Given the description of an element on the screen output the (x, y) to click on. 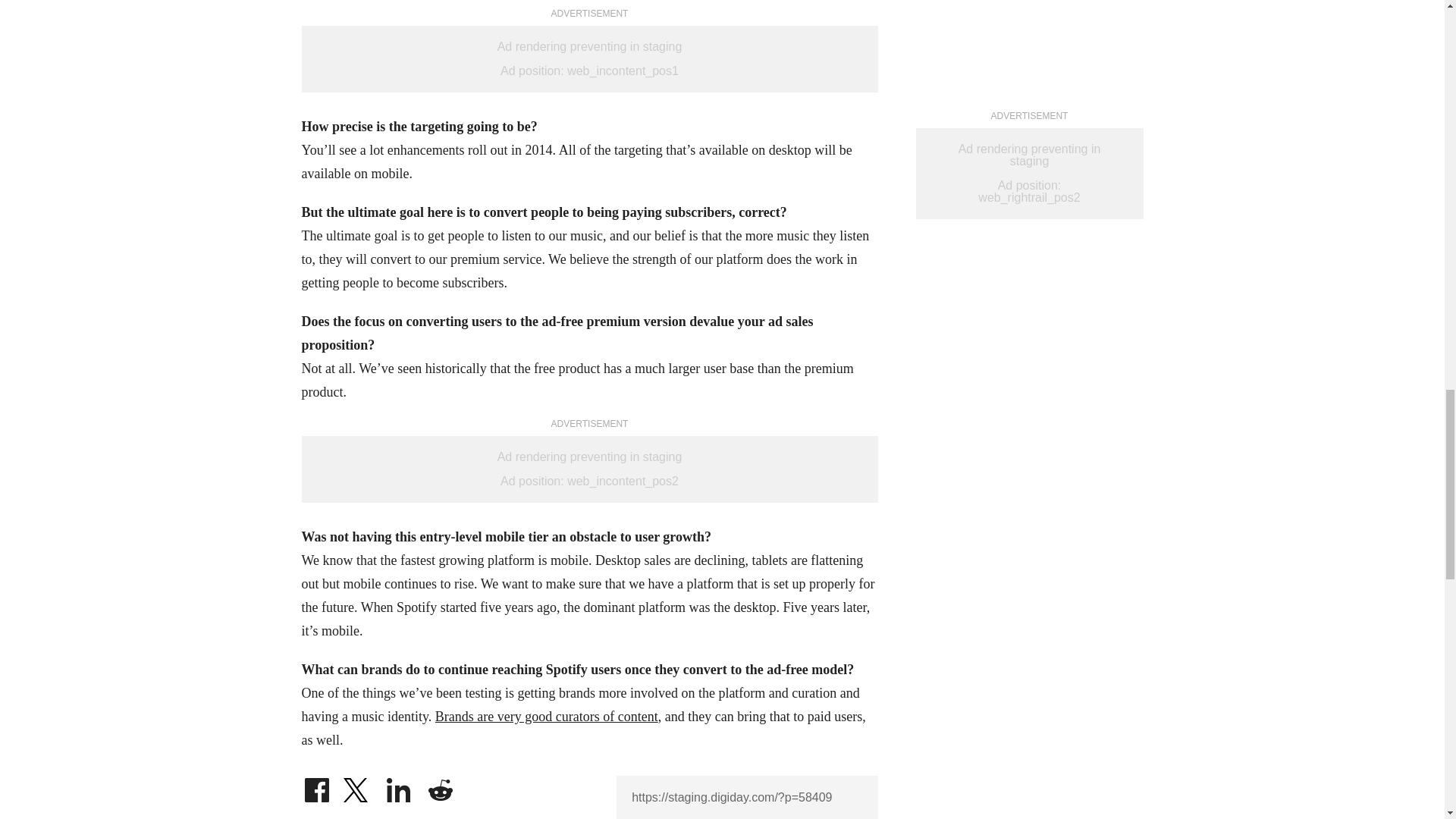
Share on LinkedIn (398, 785)
Share on Facebook (316, 785)
Share on Twitter (357, 785)
Share on Reddit (440, 785)
